Given the description of an element on the screen output the (x, y) to click on. 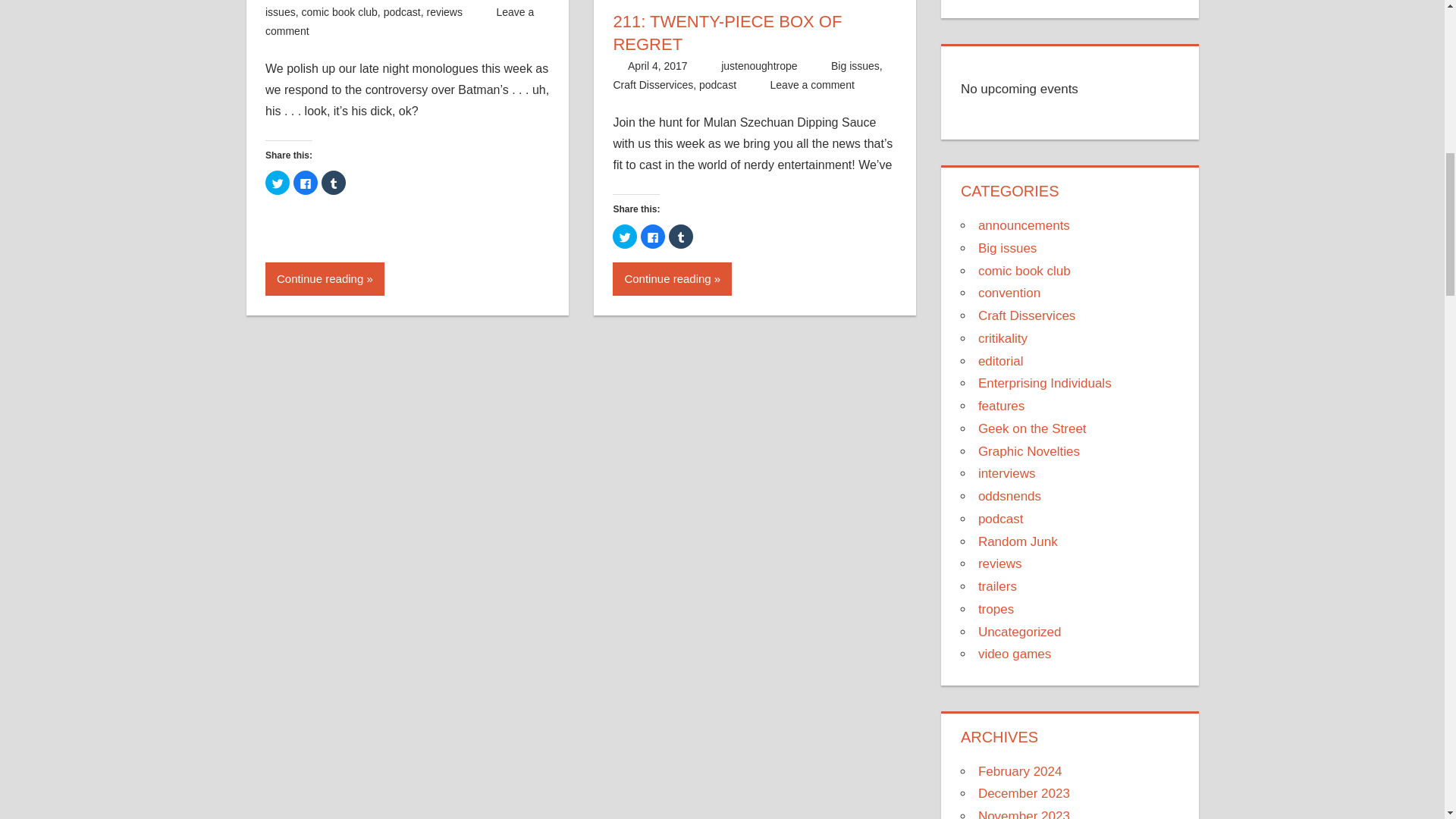
Big issues (399, 9)
Click to share on Twitter (276, 182)
211: TWENTY-PIECE BOX OF REGRET (726, 33)
Continue reading (324, 278)
Click to share on Facebook (305, 182)
12:21 am (657, 65)
April 4, 2017 (657, 65)
Leave a comment (399, 20)
comic book club (339, 11)
podcast (402, 11)
